Given the description of an element on the screen output the (x, y) to click on. 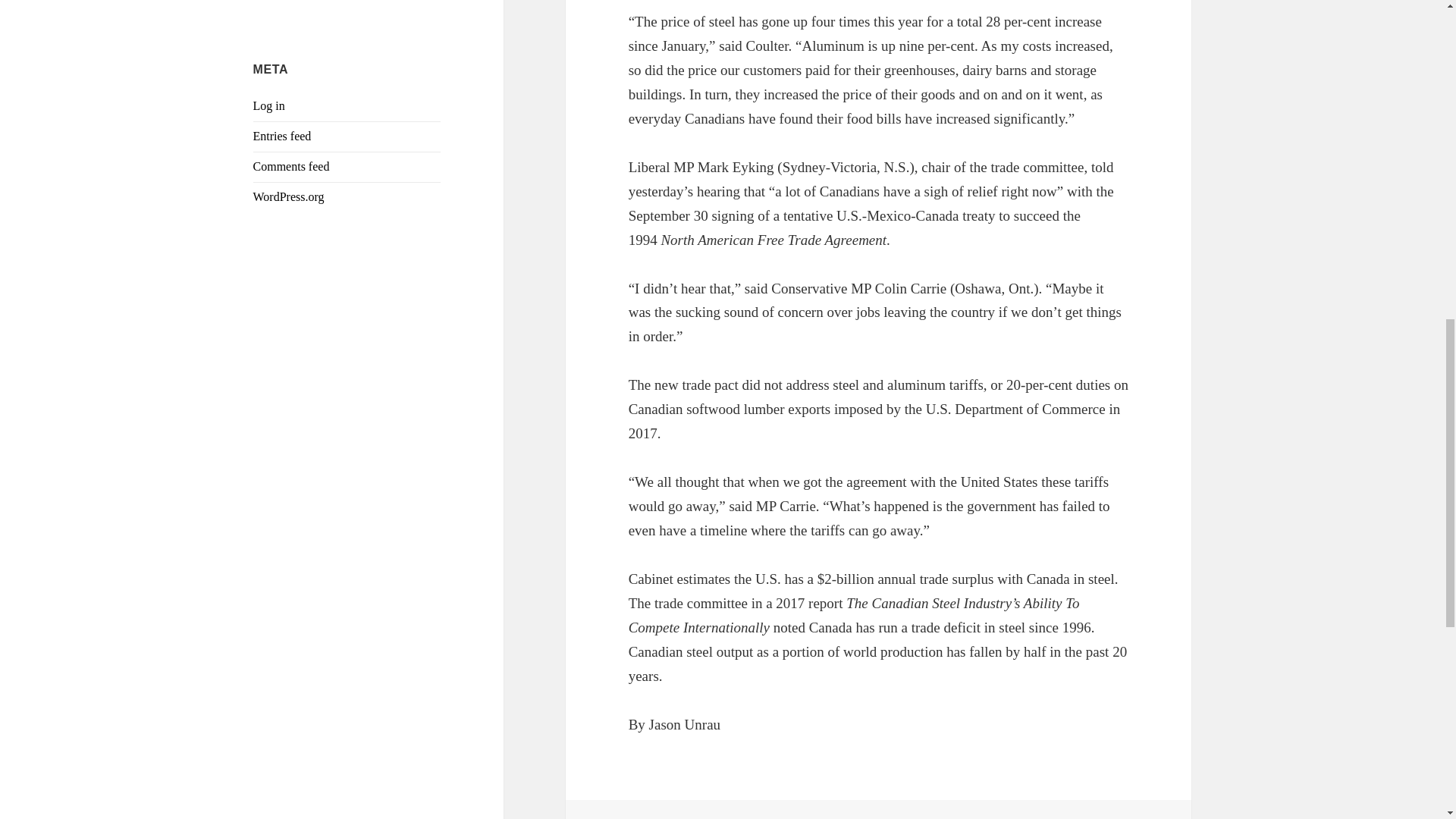
WordPress.org (288, 196)
Entries feed (282, 135)
Log in (269, 105)
Comments feed (291, 165)
